Given the description of an element on the screen output the (x, y) to click on. 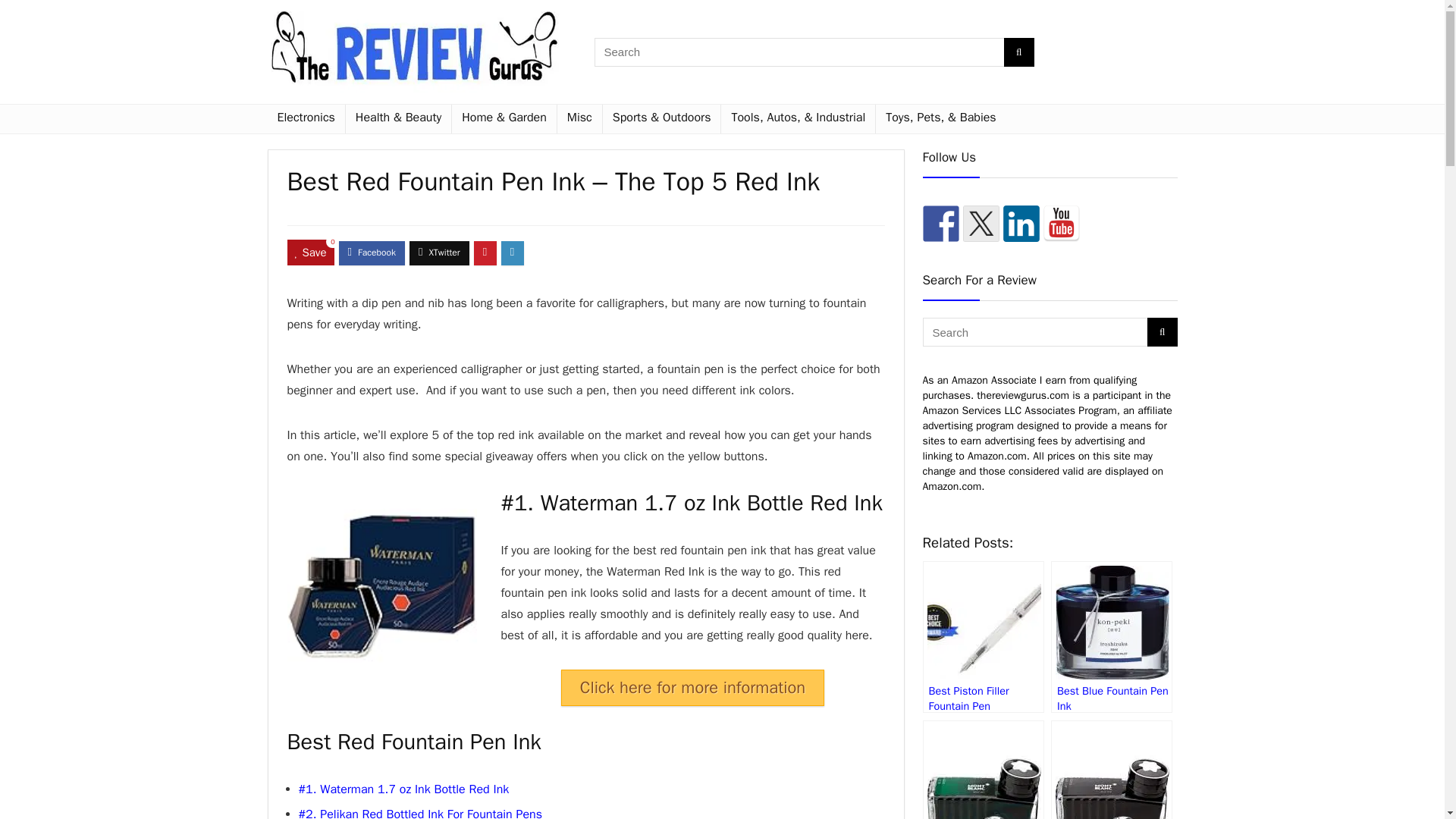
Click here for more information (692, 687)
Find us on YouTube (1061, 223)
Find us on Linkedin (1021, 223)
Misc (579, 118)
Electronics (304, 118)
Follow us on Twitter (980, 223)
Follow us on Facebook (939, 223)
